Given the description of an element on the screen output the (x, y) to click on. 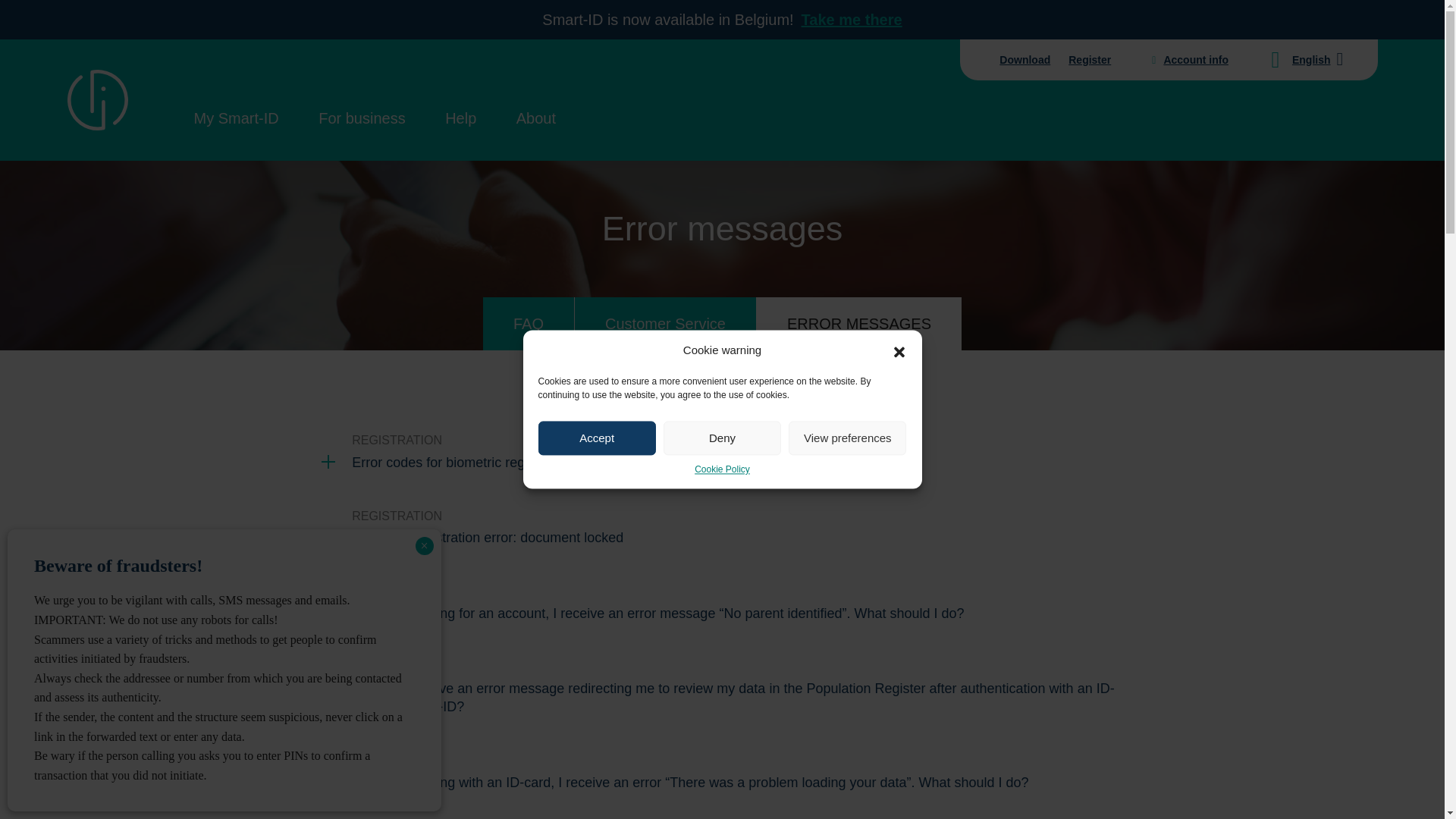
Take me there (852, 19)
Cookie Policy (721, 469)
Accept (597, 437)
Deny (721, 437)
For business (362, 118)
My Smart-ID (236, 118)
View preferences (847, 437)
